Given the description of an element on the screen output the (x, y) to click on. 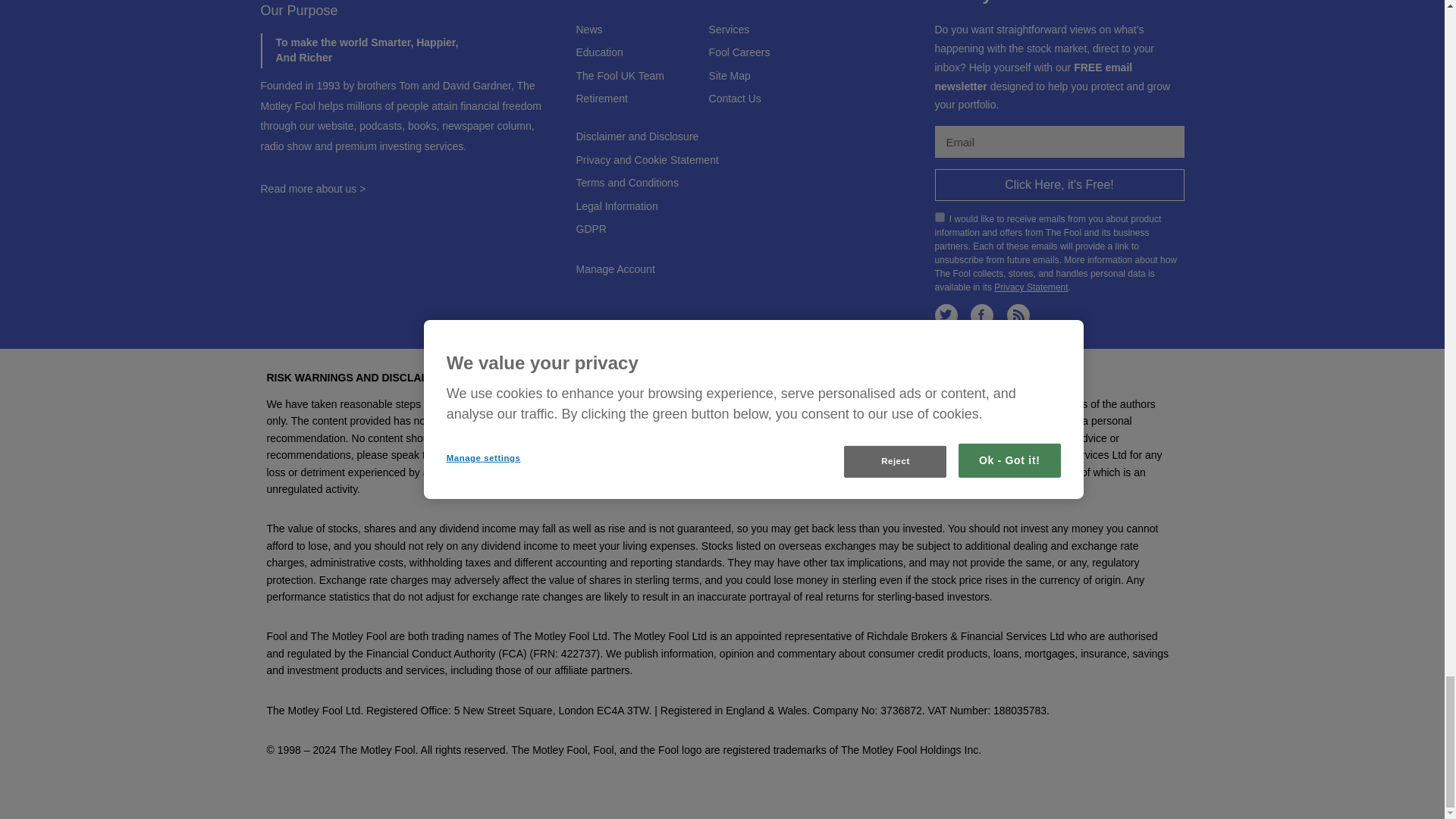
true (938, 216)
